Given the description of an element on the screen output the (x, y) to click on. 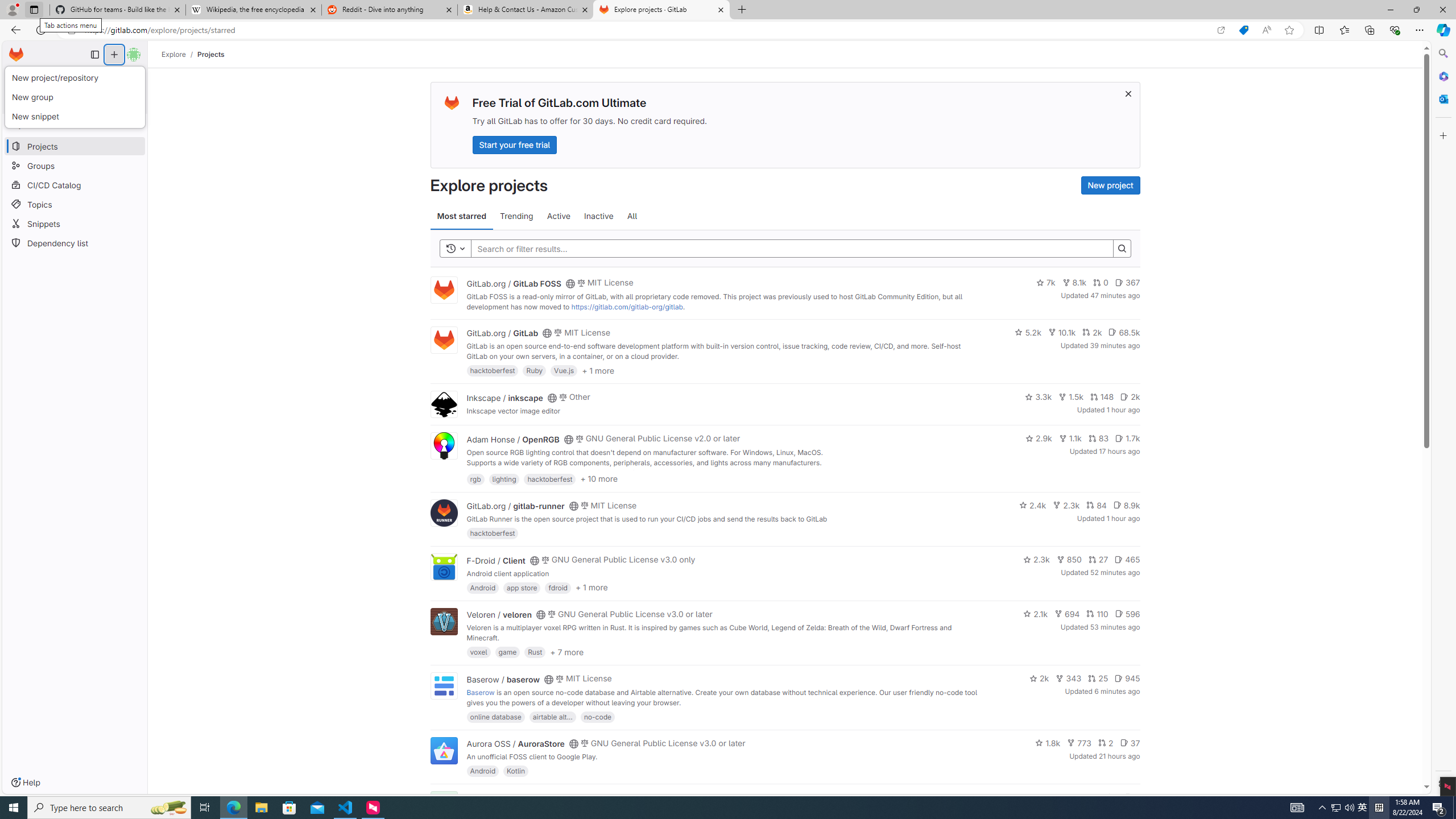
Inkscape / inkscape (504, 397)
0 (1100, 282)
1.7k (1127, 438)
8.9k (1126, 504)
To-Do list 0 (120, 76)
83 (1098, 438)
app store (521, 587)
Wikipedia, the free encyclopedia (253, 9)
Explore (173, 53)
online database (495, 715)
Dismiss trial promotion (1128, 93)
New project/repository (74, 77)
F-Droid / Client (495, 560)
1.8k (1048, 742)
hacktoberfest (492, 533)
